Given the description of an element on the screen output the (x, y) to click on. 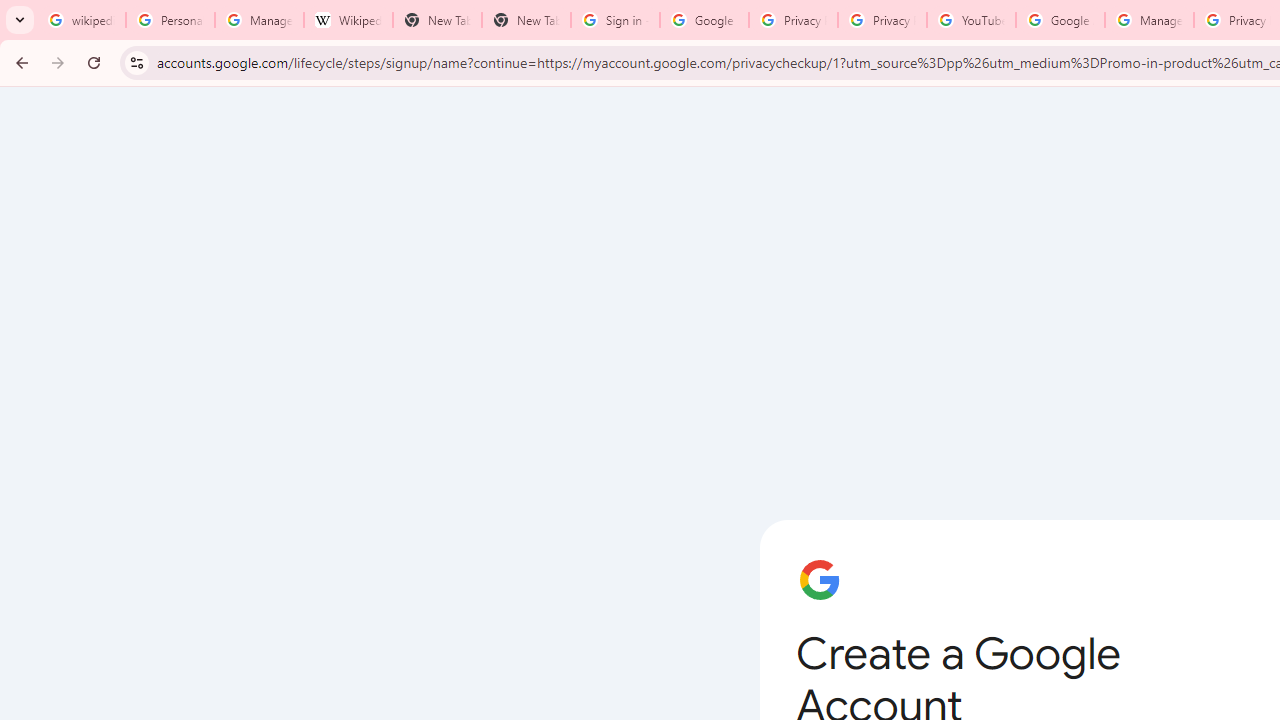
Google Account Help (1060, 20)
Sign in - Google Accounts (615, 20)
Wikipedia:Edit requests - Wikipedia (347, 20)
